Given the description of an element on the screen output the (x, y) to click on. 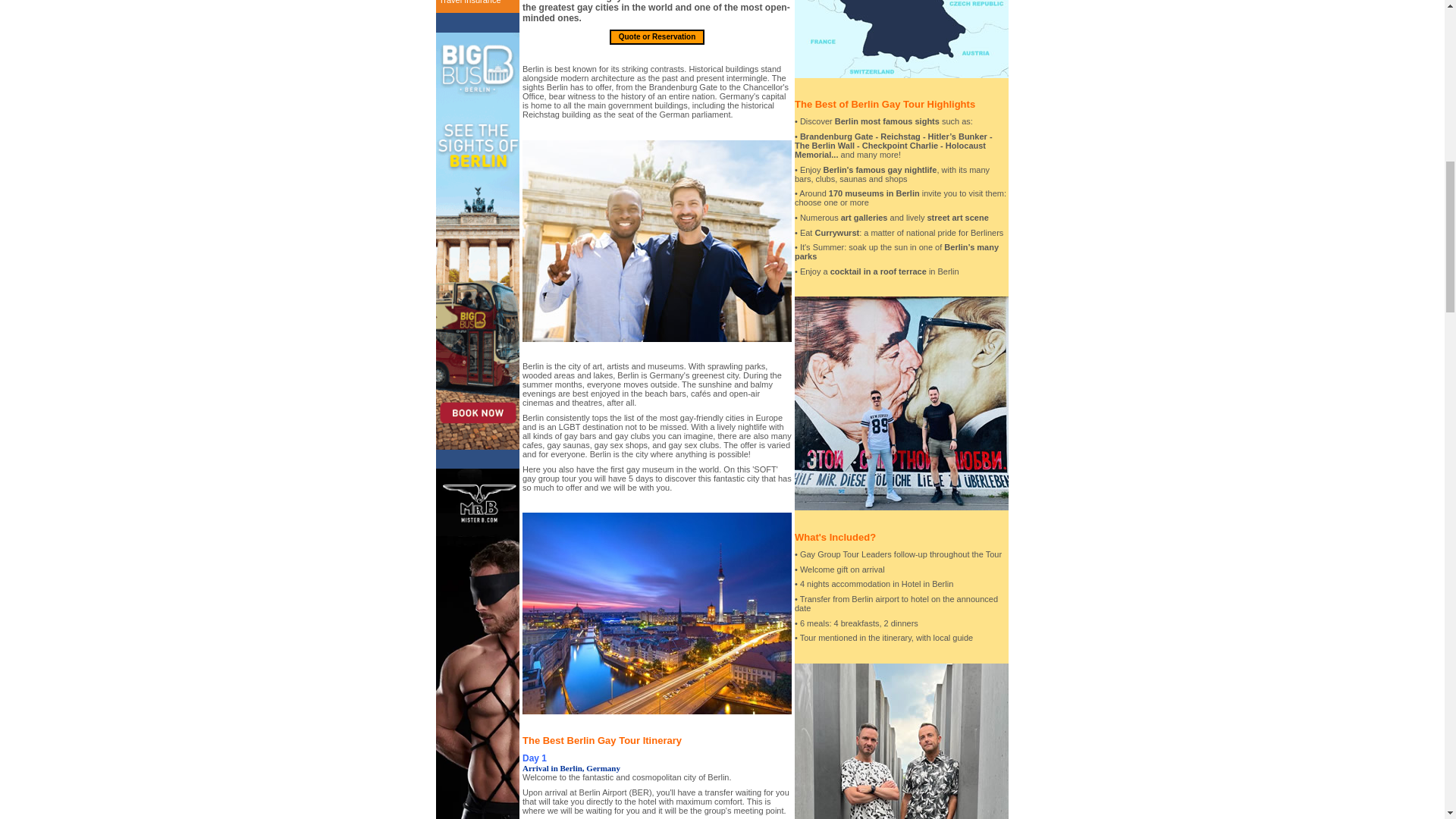
Quote or Reservation (656, 36)
Big Bus Tours Berlin (477, 447)
Travel Insurance (469, 2)
Travel Insurance (469, 2)
